Given the description of an element on the screen output the (x, y) to click on. 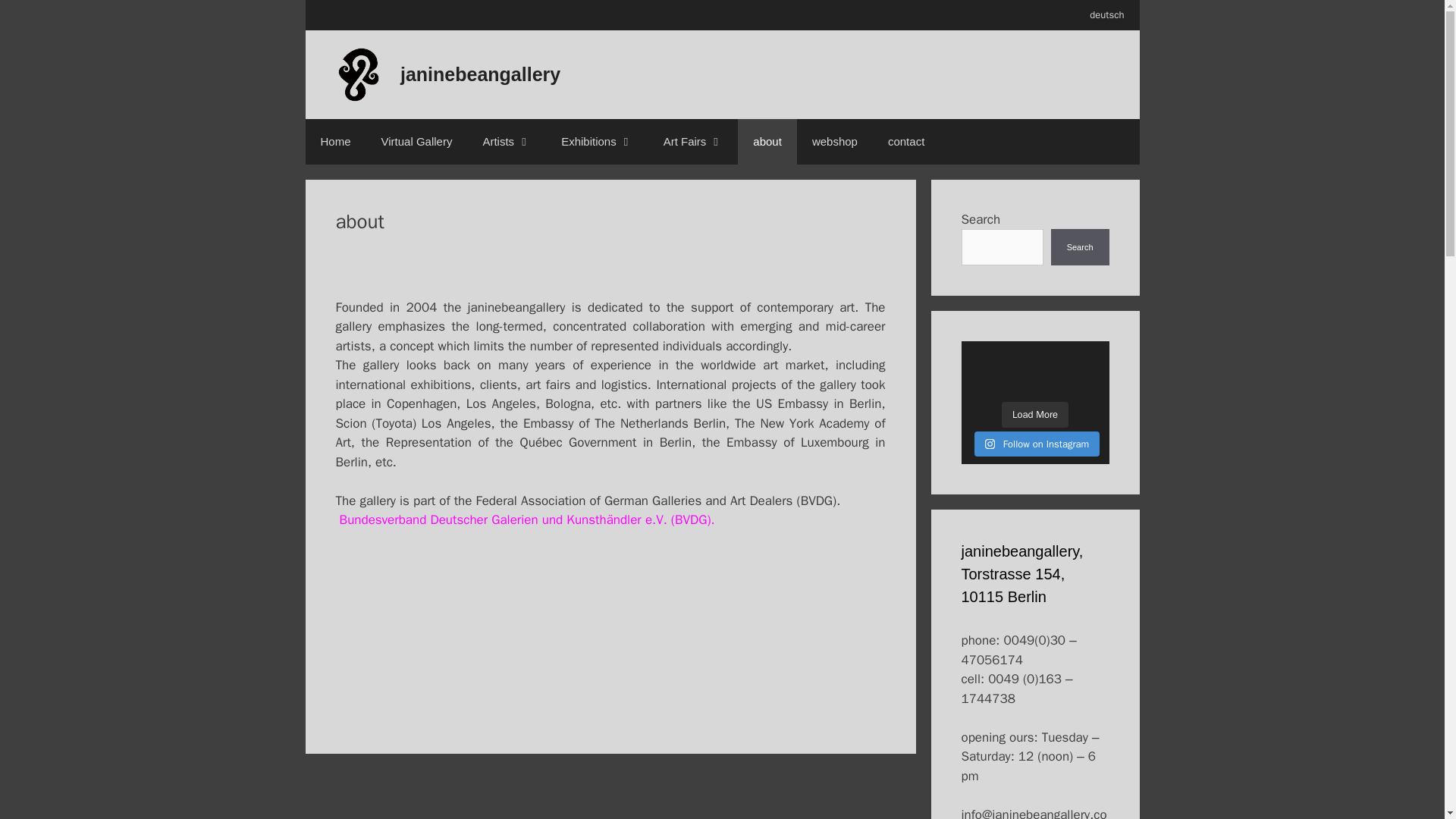
Virtual Gallery (416, 141)
janinebeangallery (480, 74)
Home (334, 141)
Artists (506, 141)
Exhibitions (596, 141)
deutsch (1106, 15)
